Given the description of an element on the screen output the (x, y) to click on. 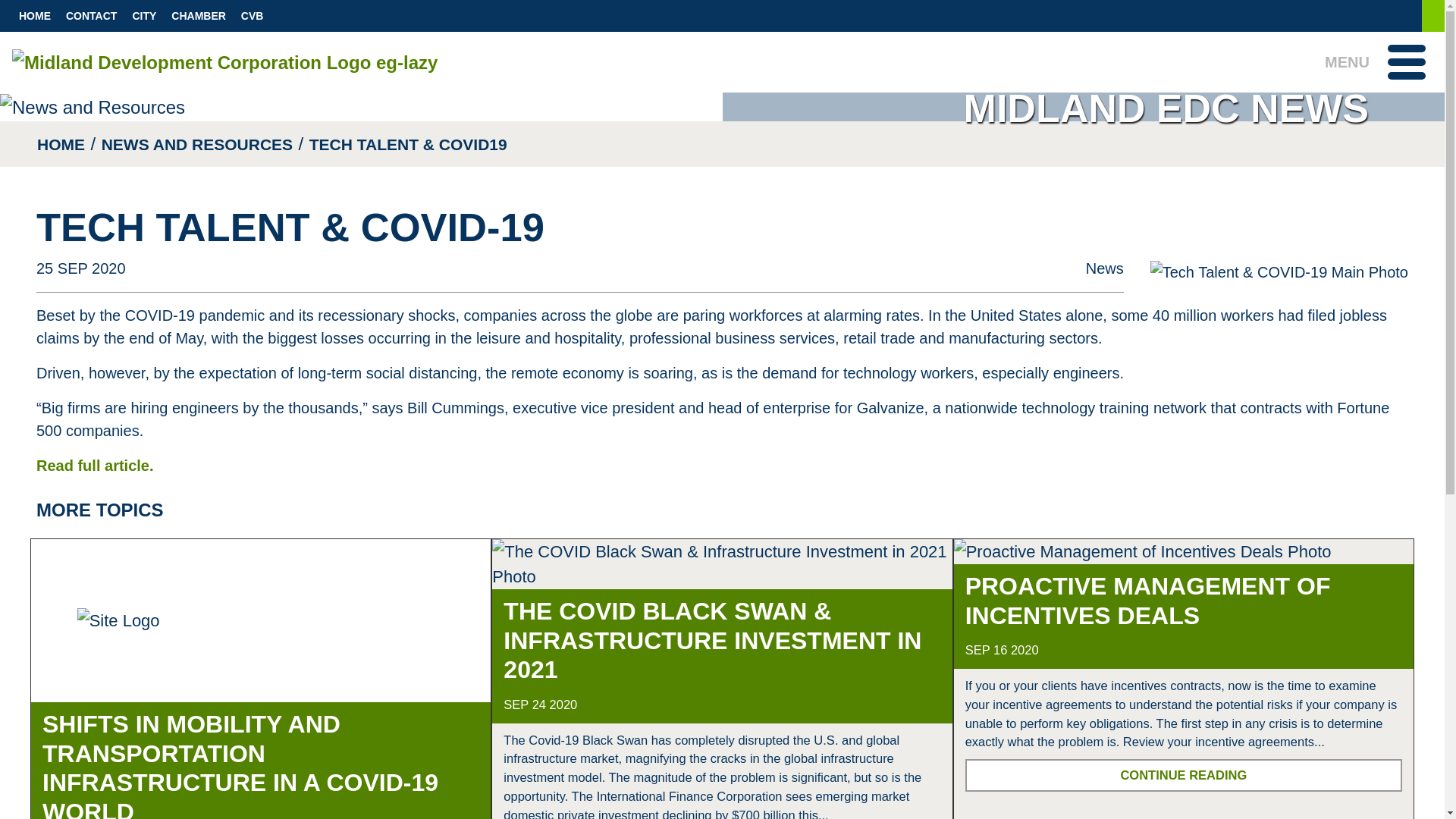
CONTACT (90, 15)
Facebook (1323, 15)
Youtube (1353, 15)
CVB (251, 15)
Twitter (1337, 15)
CHAMBER (197, 15)
Envelope (1383, 15)
Instagram (1398, 15)
Linkedin (1368, 15)
HOME (34, 15)
CITY (143, 15)
Tiktok (1414, 15)
